Given the description of an element on the screen output the (x, y) to click on. 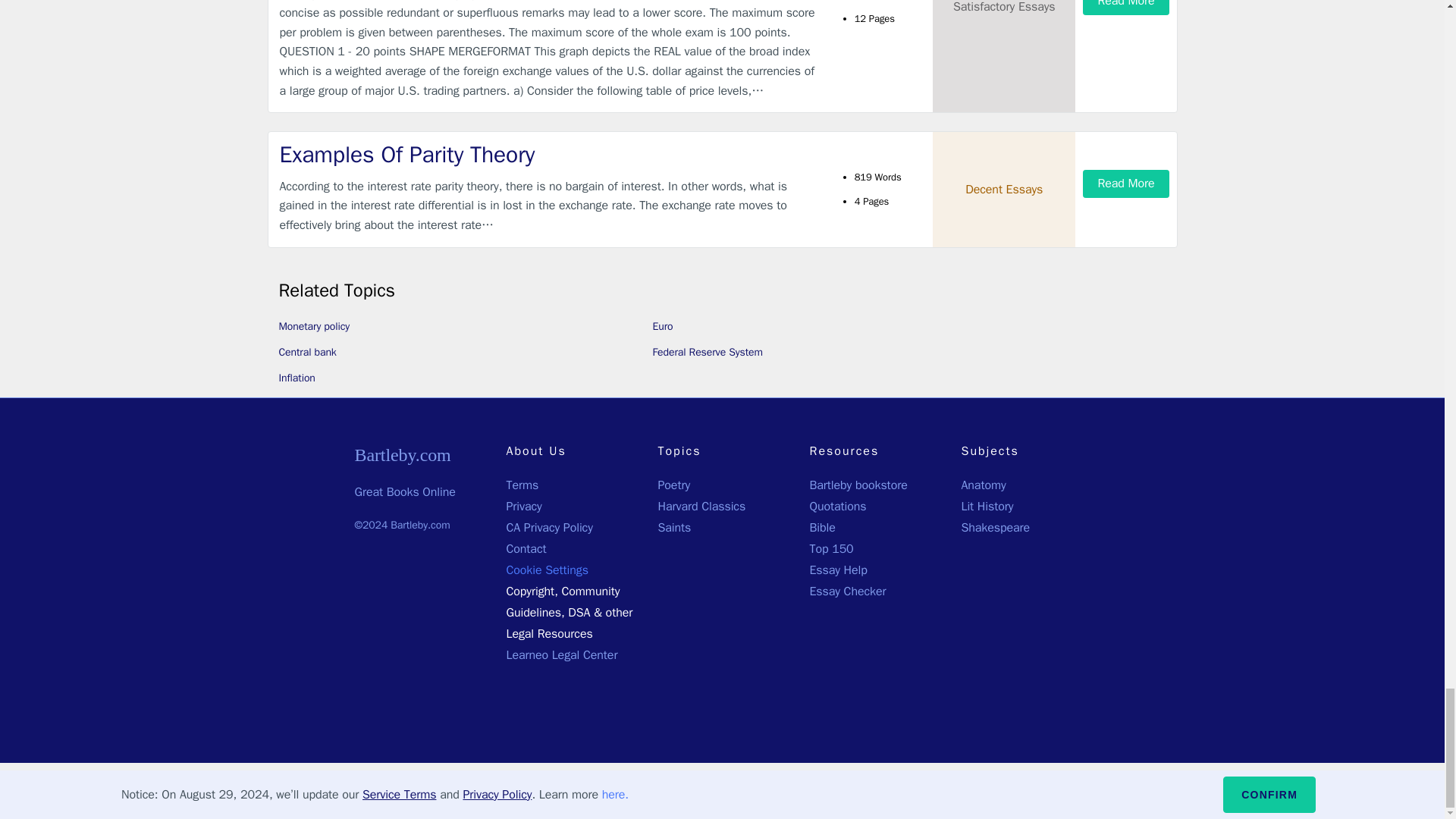
Central bank (307, 351)
Inflation (297, 377)
Euro (662, 326)
Federal Reserve System (706, 351)
Monetary policy (314, 326)
